Given the description of an element on the screen output the (x, y) to click on. 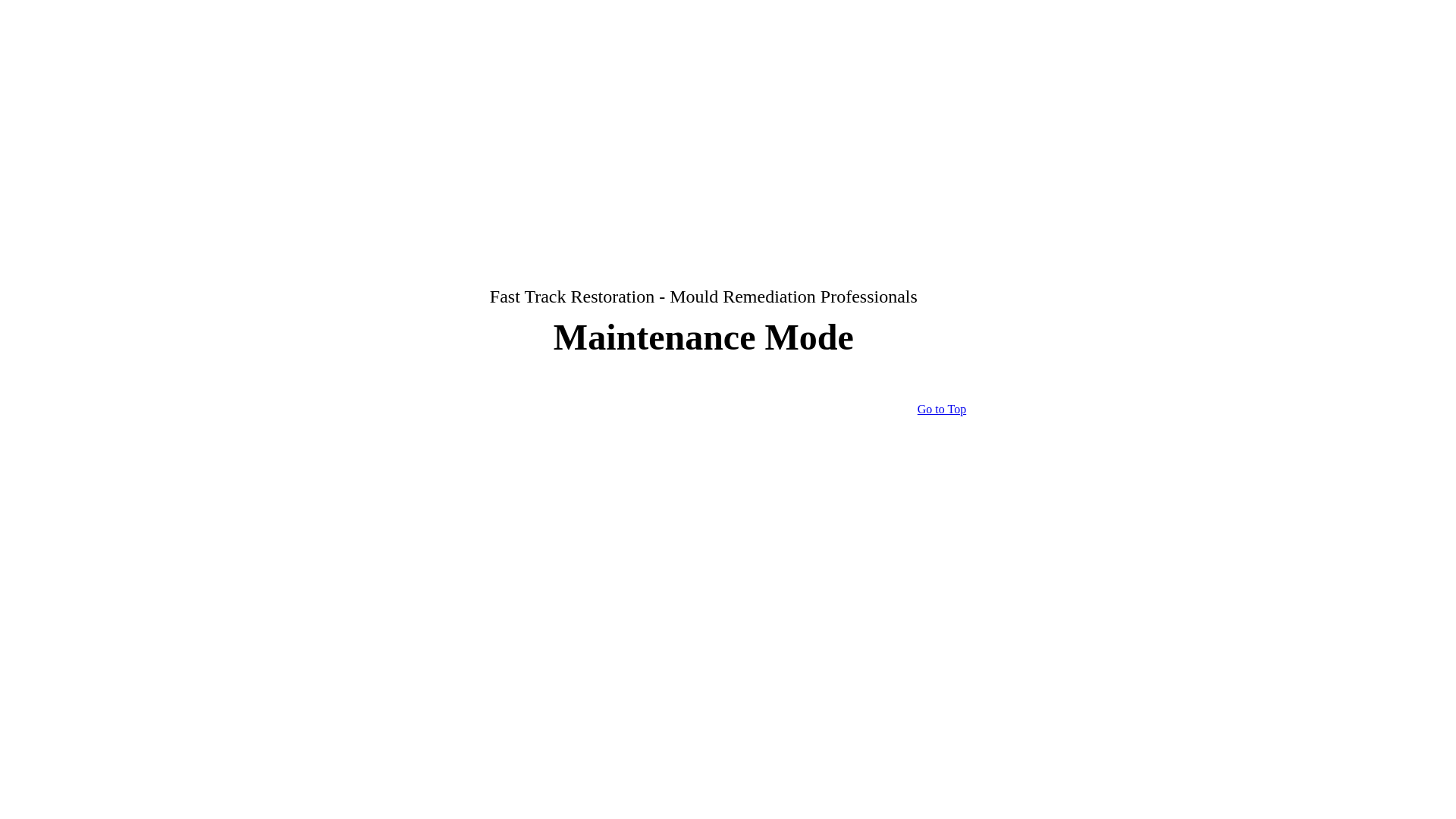
Go to Top Element type: text (941, 408)
